Given the description of an element on the screen output the (x, y) to click on. 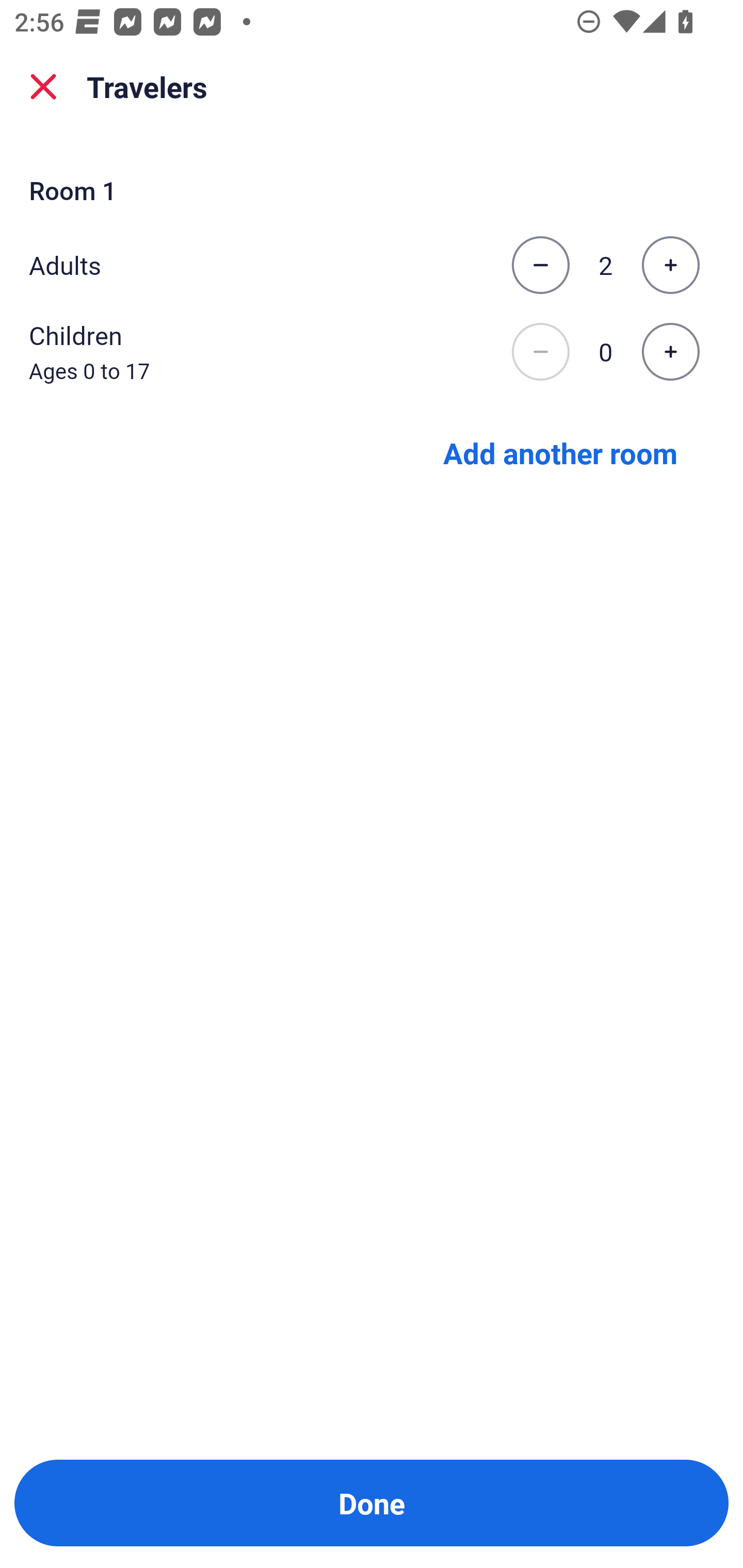
close (43, 86)
Decrease the number of adults (540, 264)
Increase the number of adults (670, 264)
Decrease the number of children (540, 351)
Increase the number of children (670, 351)
Add another room (560, 452)
Done (371, 1502)
